Given the description of an element on the screen output the (x, y) to click on. 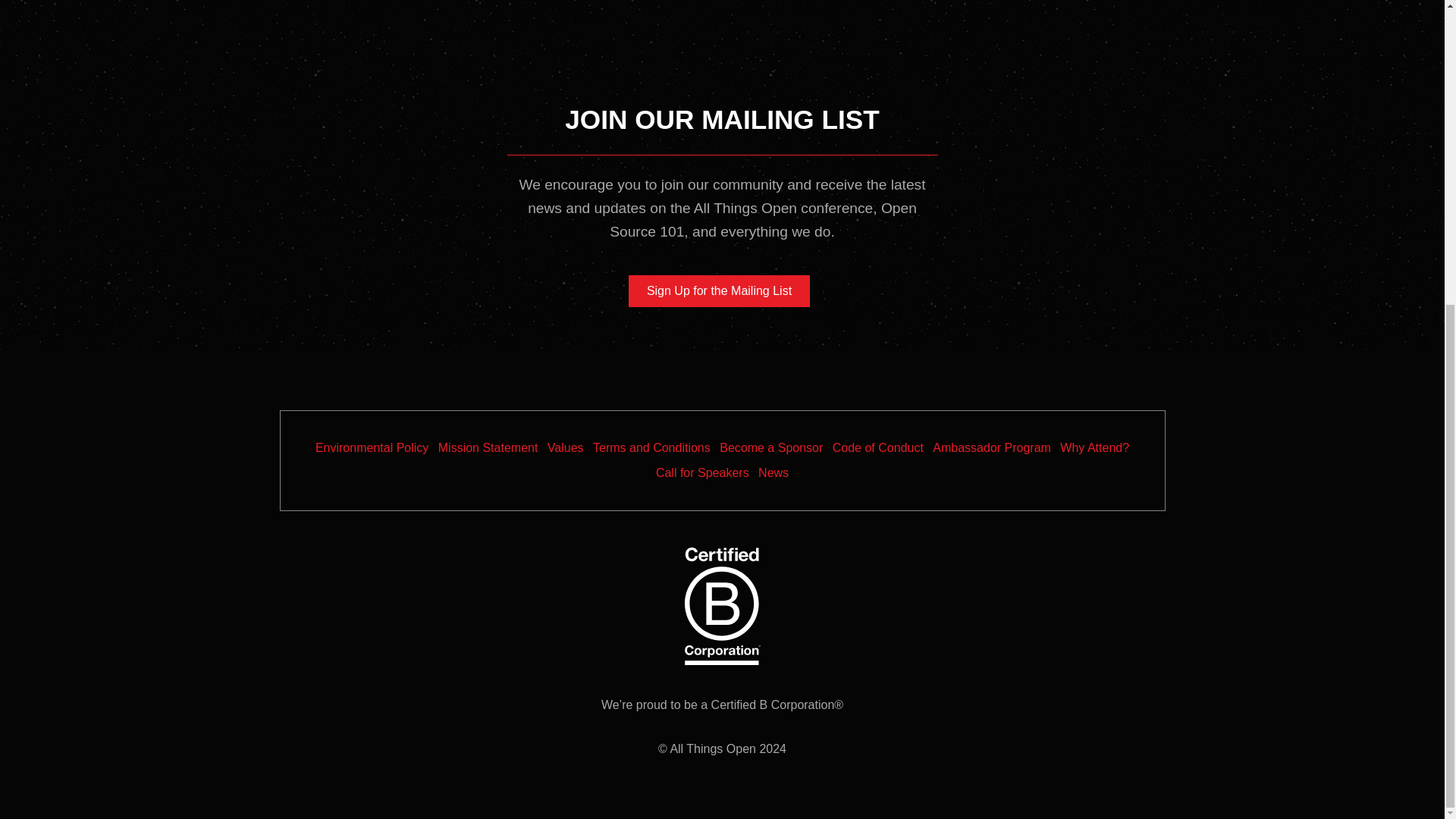
Environmental Policy (371, 447)
Become a Sponsor (770, 447)
Values (565, 447)
Sign Up for the Mailing List (718, 291)
Ambassador Program (992, 447)
News (773, 473)
Terms and Conditions (651, 447)
Call for Speakers (702, 473)
Mission Statement (488, 447)
Code of Conduct (877, 447)
Why Attend? (1094, 447)
